Given the description of an element on the screen output the (x, y) to click on. 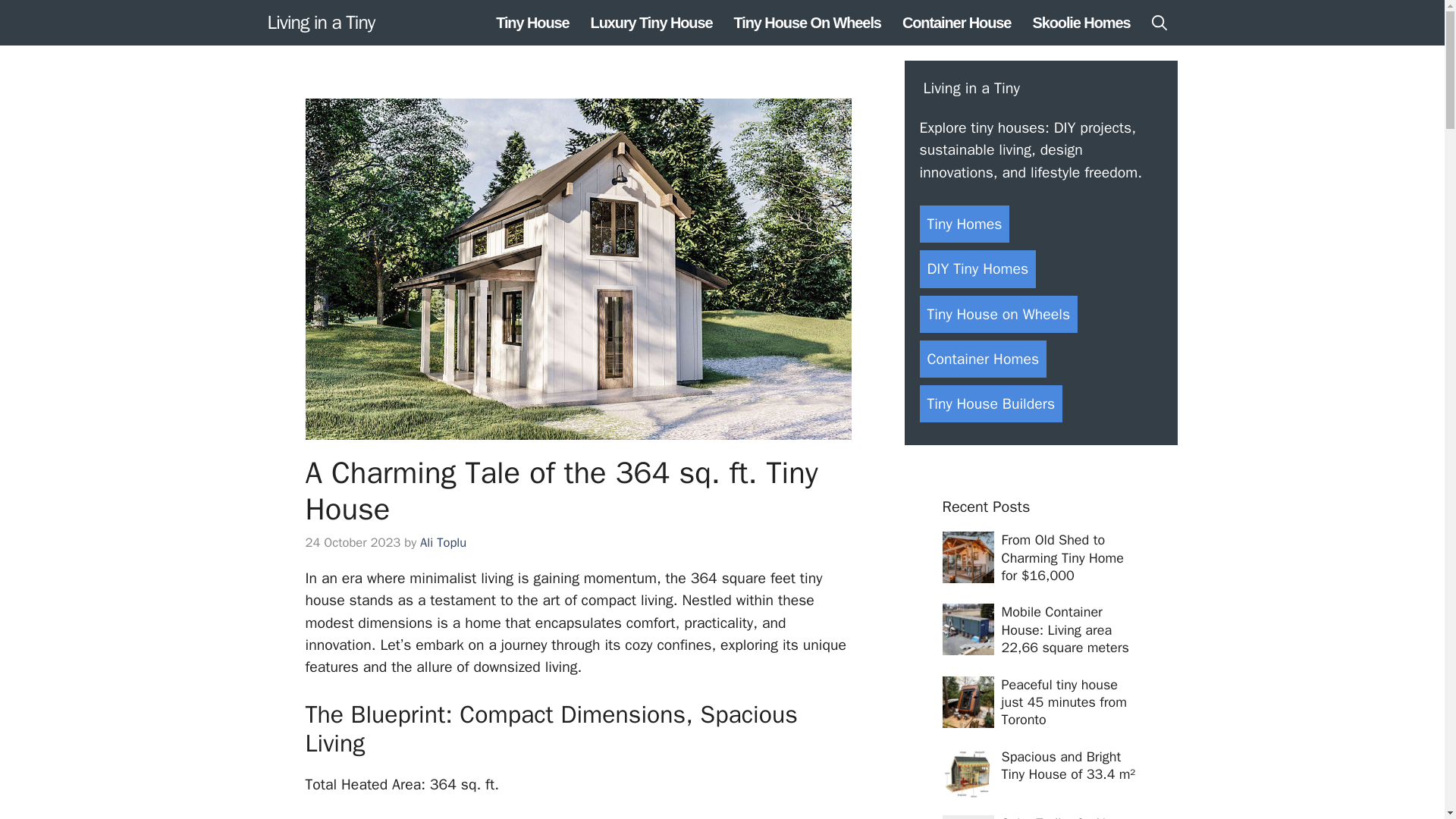
Container House (956, 22)
Skoolie Homes (1081, 22)
Living in a Tiny (320, 22)
Ali Toplu (442, 542)
Luxury Tiny House (651, 22)
Tiny House on Wheels (997, 313)
Tiny House (531, 22)
Solar Trailer for Your Tiny House (1061, 816)
Tiny House Builders (990, 403)
Tiny House On Wheels (807, 22)
DIY Tiny Homes (976, 268)
View all posts by Ali Toplu (442, 542)
Container Homes (982, 358)
Peaceful tiny house just 45 minutes from Toronto (1063, 702)
Tiny Homes (963, 223)
